Given the description of an element on the screen output the (x, y) to click on. 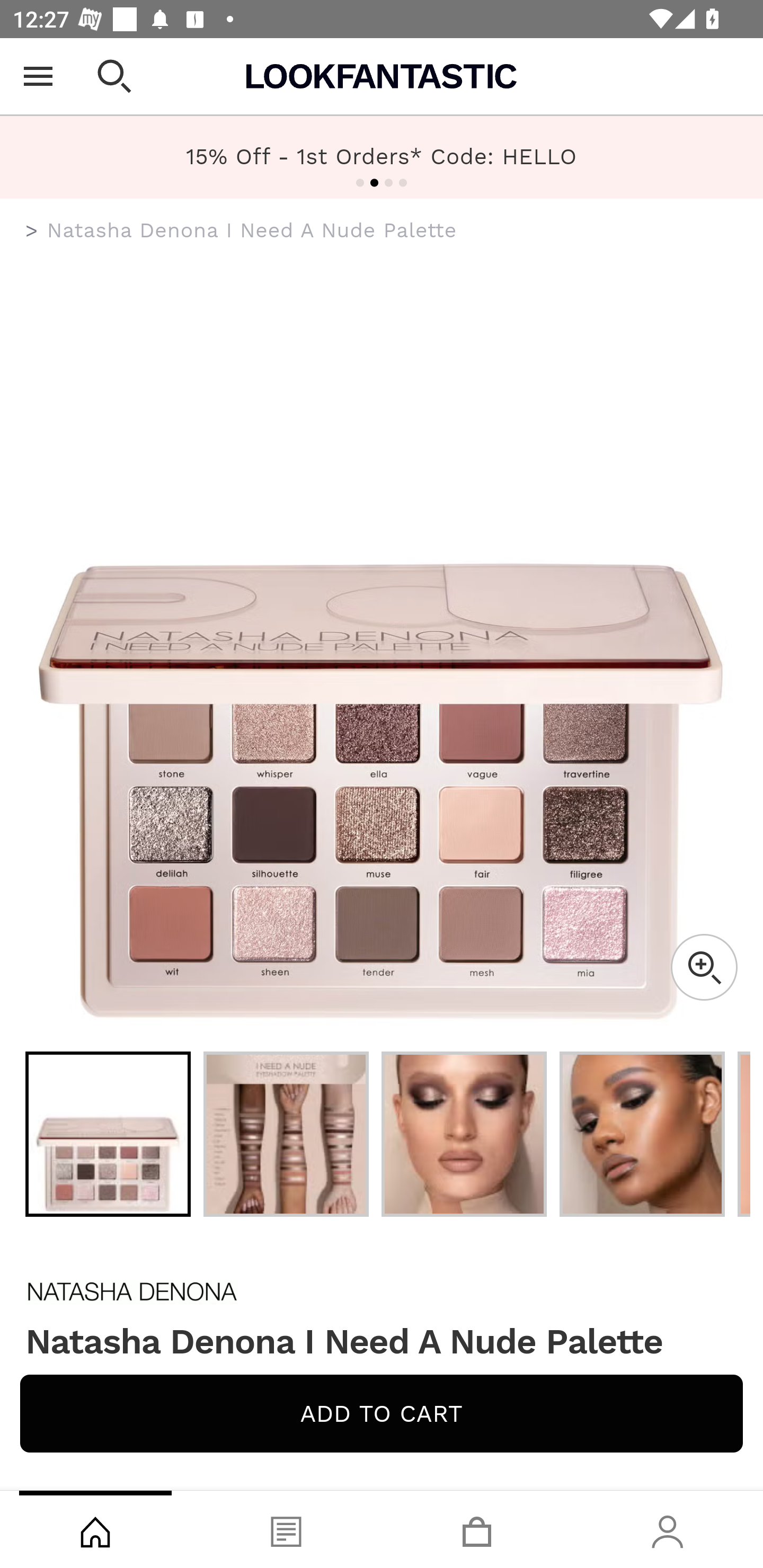
Open Menu (38, 75)
Open search (114, 75)
Lookfantastic USA (381, 75)
us.lookfantastic (32, 230)
Zoom (703, 966)
Natasha Denona (381, 1291)
Add to cart (381, 1413)
Shop, tab, 1 of 4 (95, 1529)
Blog, tab, 2 of 4 (285, 1529)
Basket, tab, 3 of 4 (476, 1529)
Account, tab, 4 of 4 (667, 1529)
